Given the description of an element on the screen output the (x, y) to click on. 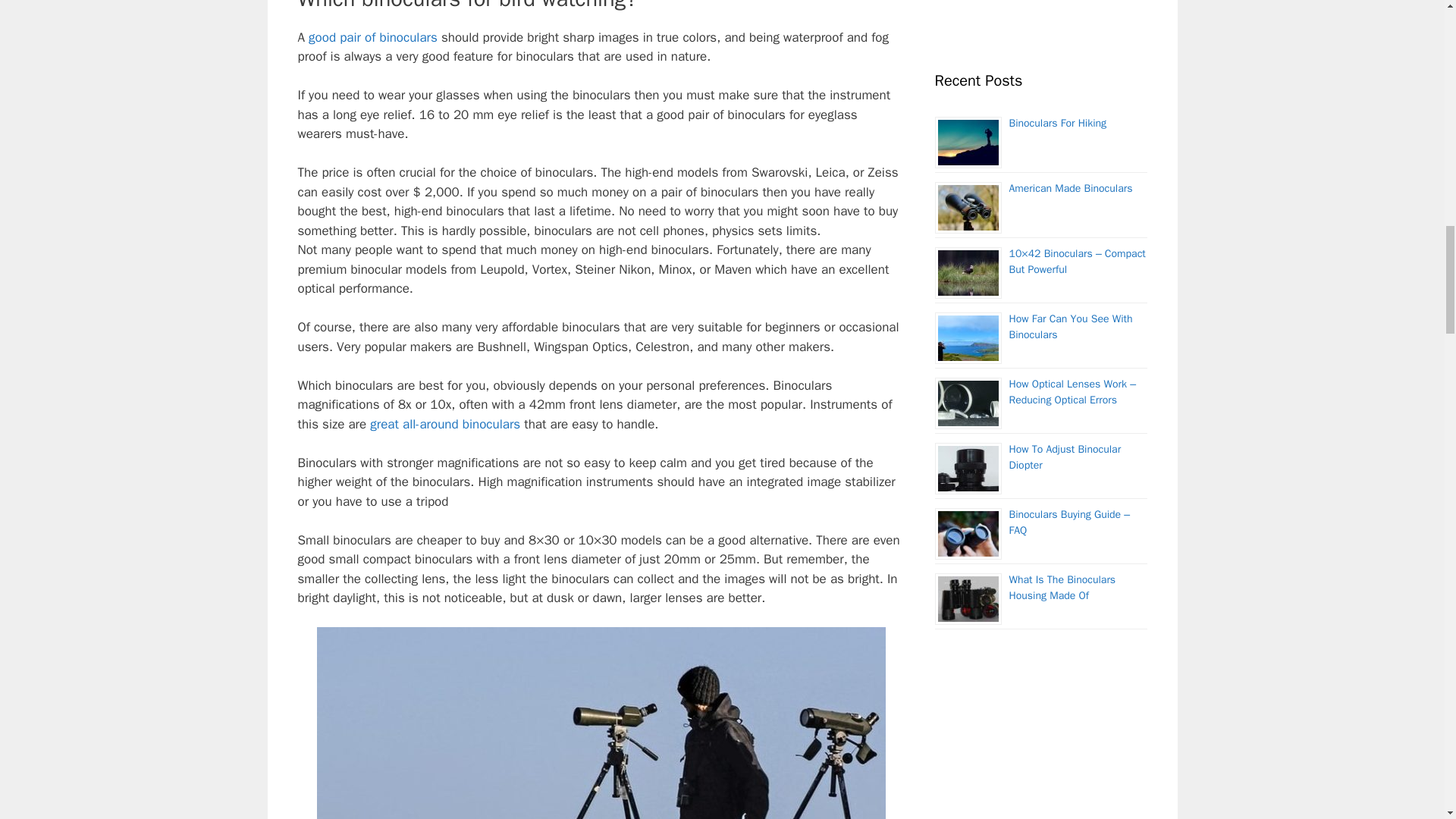
good pair of binoculars (373, 37)
Permalink to Binoculars For Hiking (1057, 123)
Advertisement (1040, 20)
great all-around binoculars (444, 424)
